Given the description of an element on the screen output the (x, y) to click on. 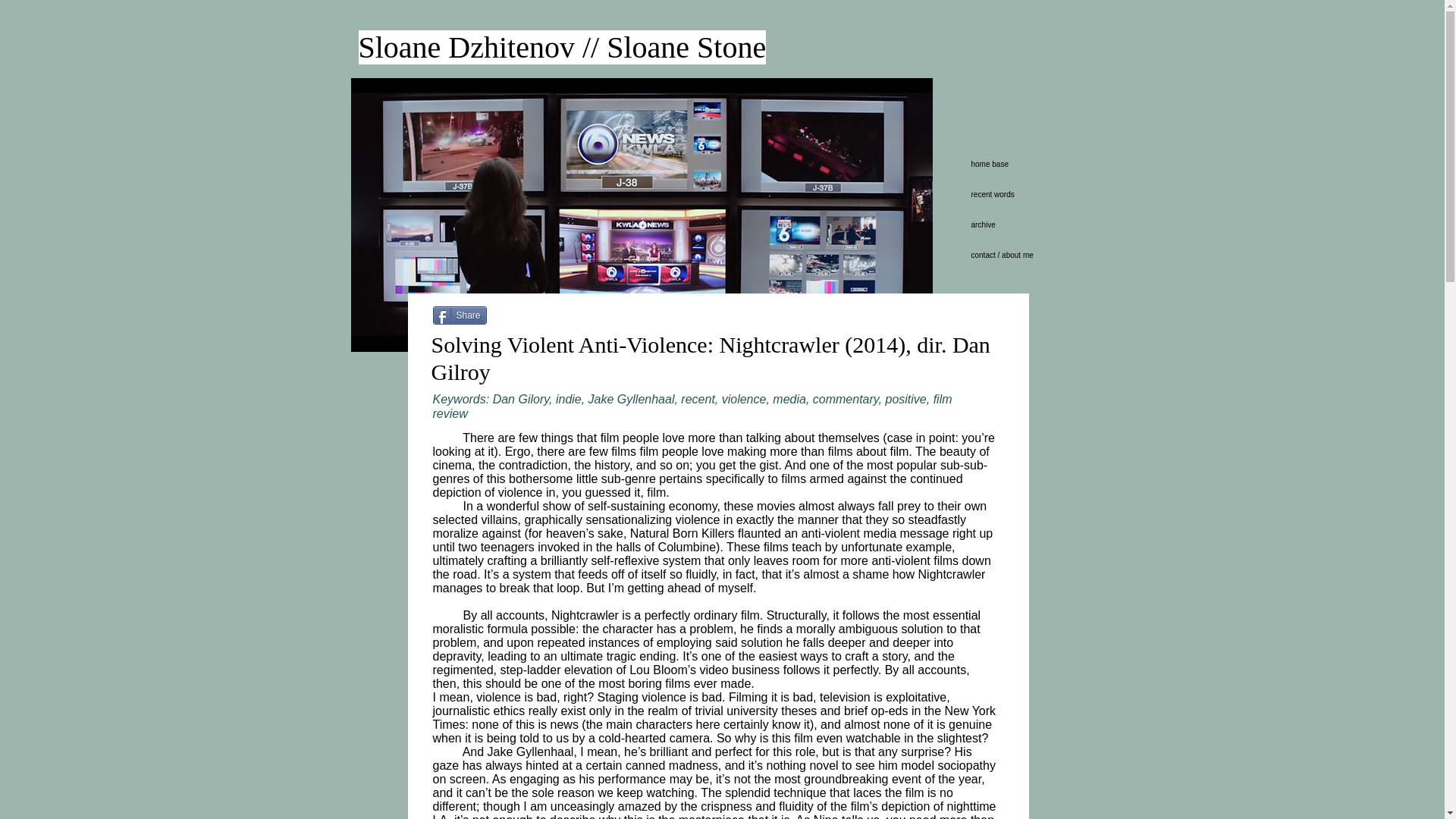
archive (1006, 224)
Share (459, 315)
Share (459, 315)
Twitter Tweet (521, 316)
home base (1006, 164)
